Given the description of an element on the screen output the (x, y) to click on. 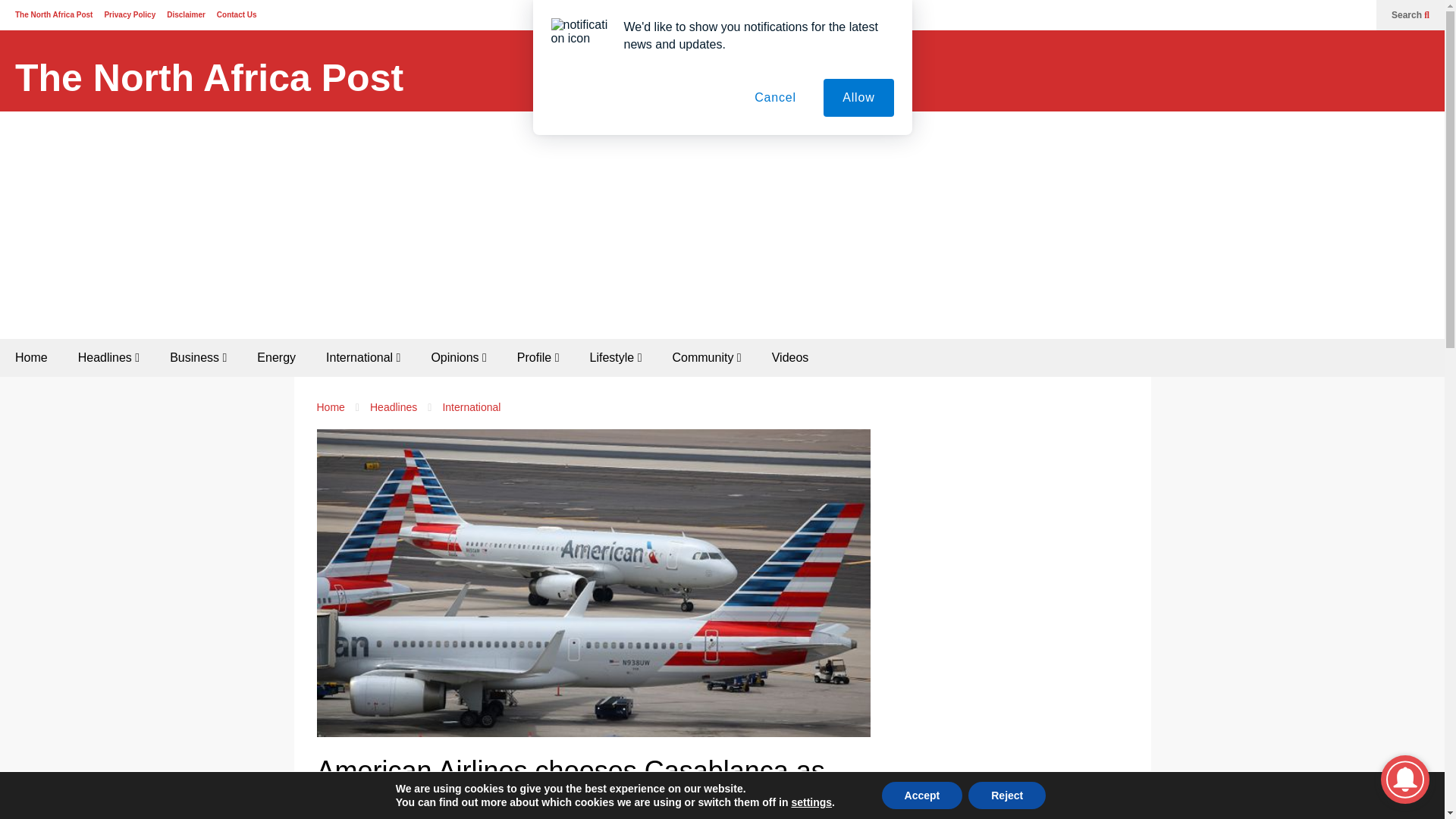
Home (31, 357)
Business (197, 357)
Disclaimer (186, 14)
The North Africa Post (53, 14)
The North Africa Post (208, 78)
Opinions (457, 357)
Search (1410, 15)
Energy (276, 357)
